Given the description of an element on the screen output the (x, y) to click on. 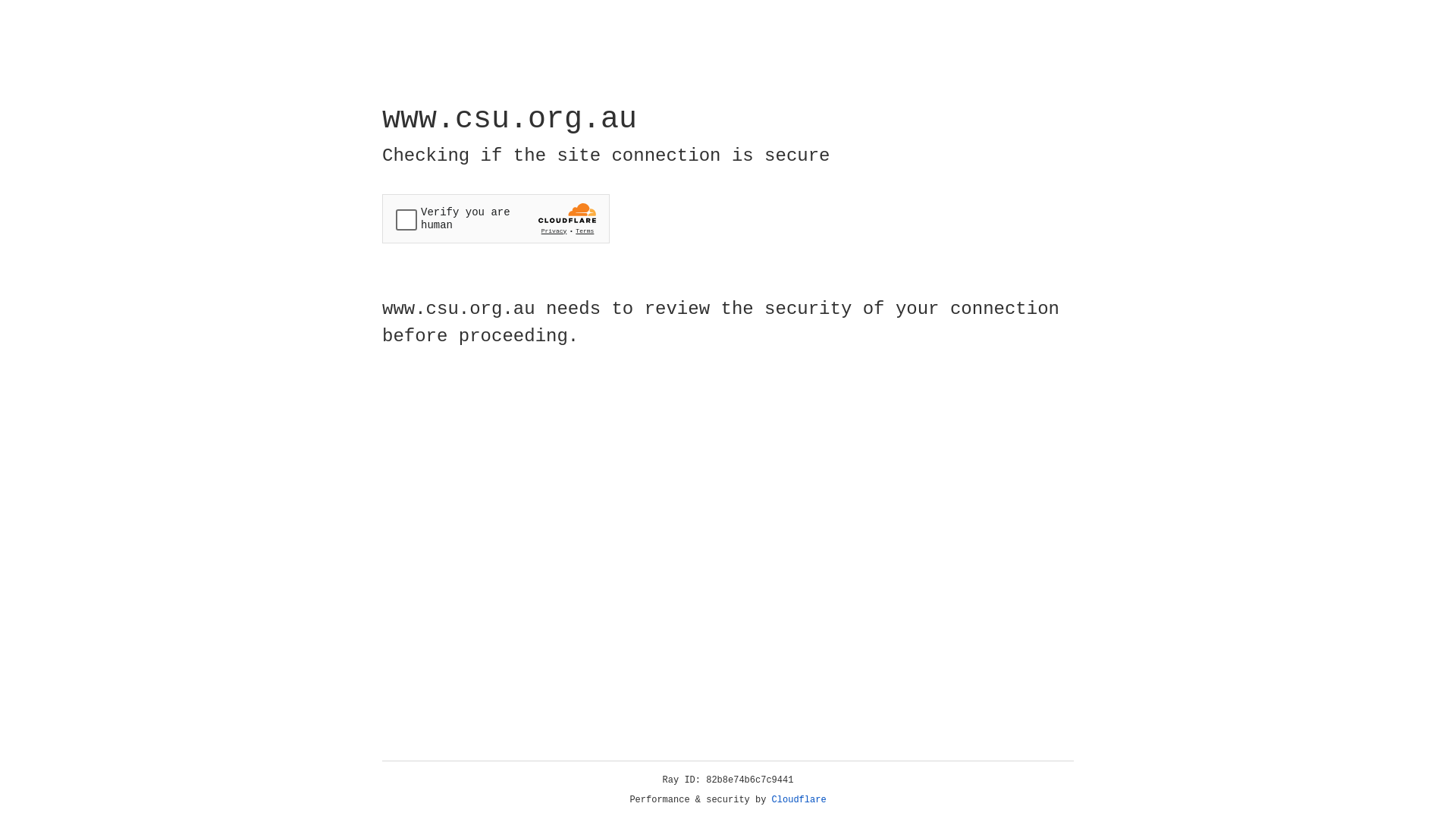
Cloudflare Element type: text (798, 799)
Widget containing a Cloudflare security challenge Element type: hover (495, 218)
